Given the description of an element on the screen output the (x, y) to click on. 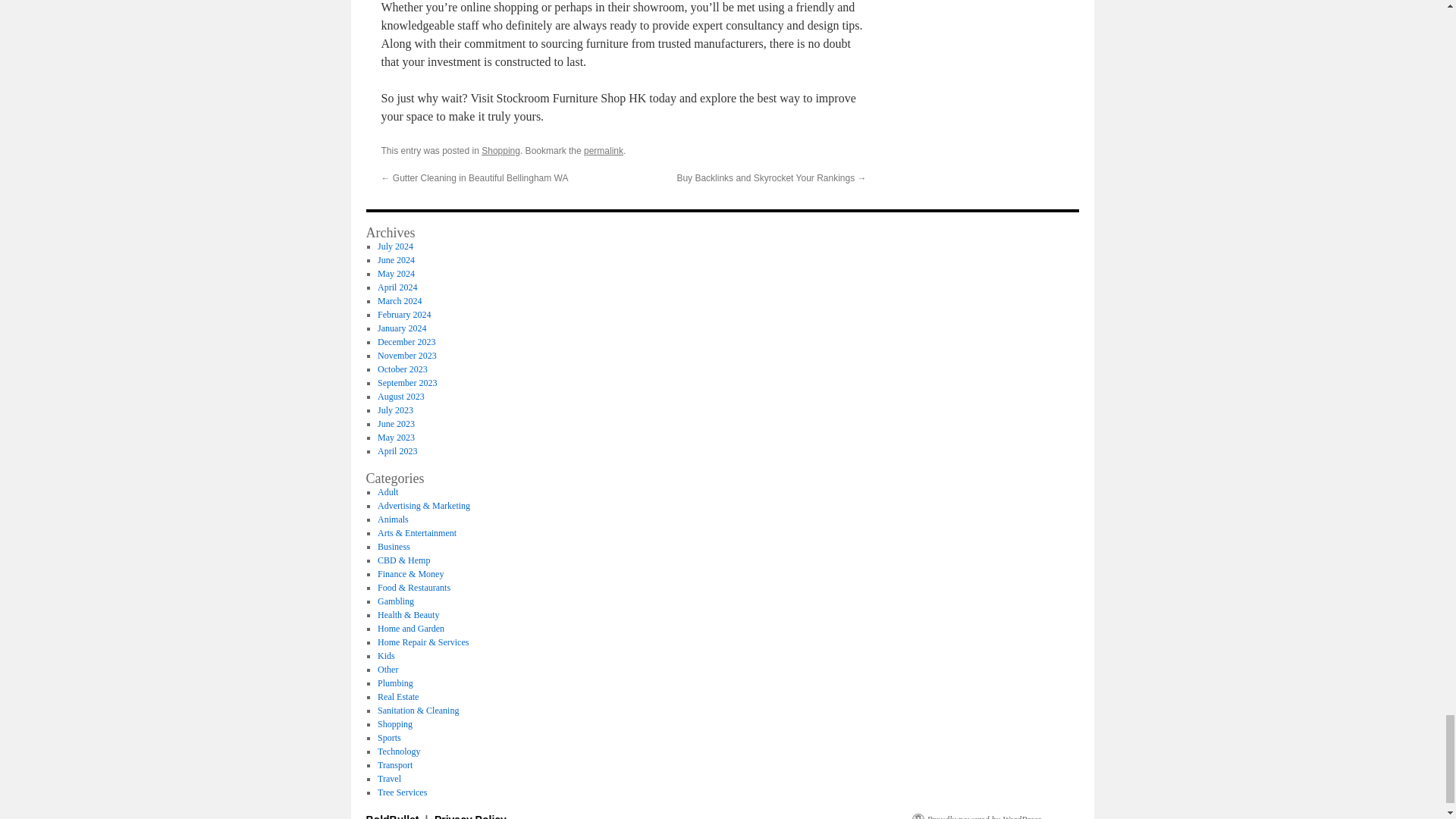
Permalink to Stockroom Hong Kong: Your Furniture Authority (603, 150)
April 2024 (396, 286)
May 2023 (395, 437)
permalink (603, 150)
June 2024 (395, 259)
March 2024 (399, 300)
October 2023 (402, 368)
Adult (387, 491)
April 2023 (396, 450)
July 2024 (395, 245)
June 2023 (395, 423)
May 2024 (395, 273)
September 2023 (406, 382)
Shopping (500, 150)
November 2023 (406, 355)
